Given the description of an element on the screen output the (x, y) to click on. 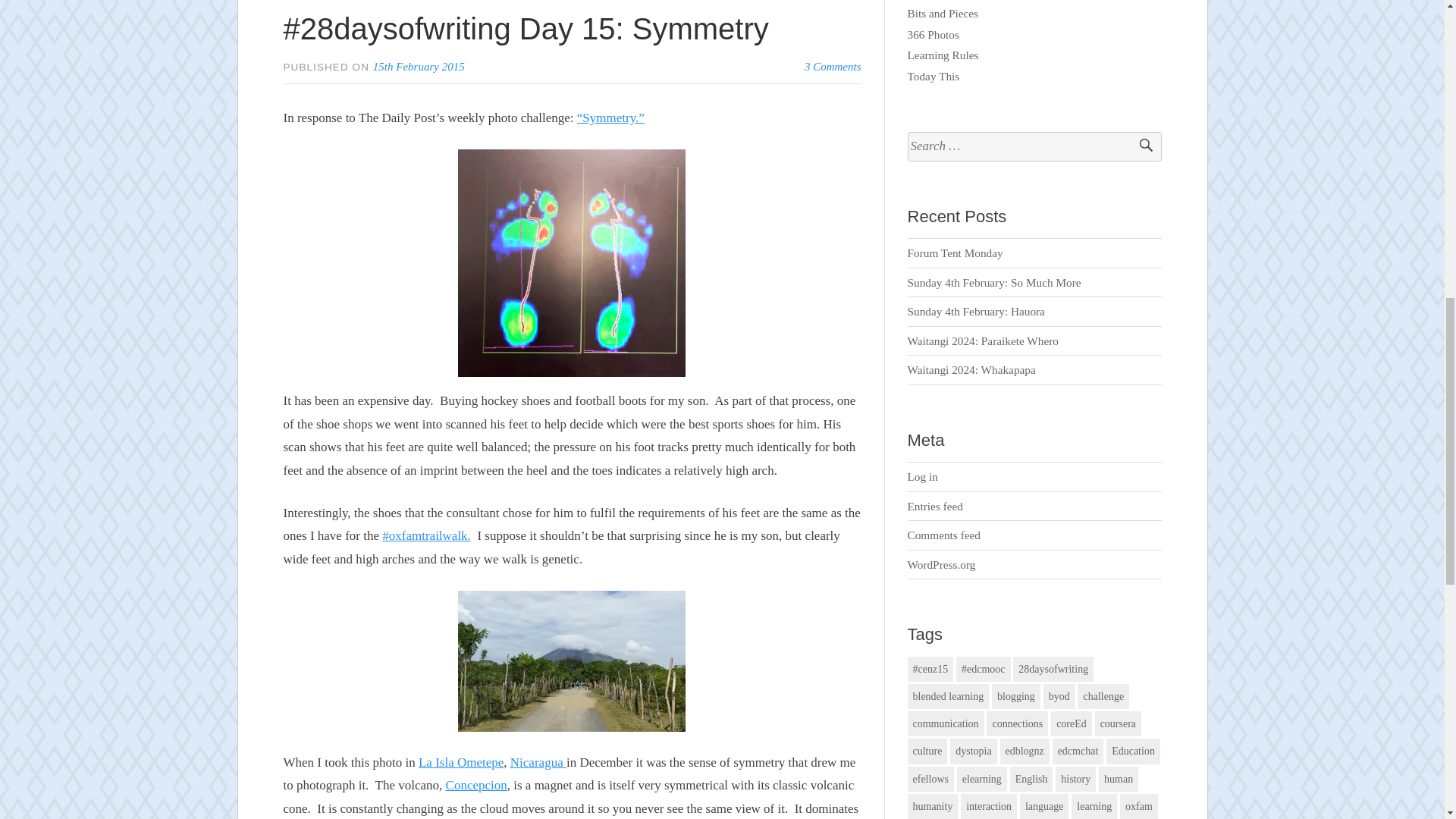
3 Comments (833, 66)
Entries feed (934, 505)
Comments feed (943, 534)
Sunday 4th February: Hauora (976, 310)
Waitangi 2024: Whakapapa (971, 369)
Sunday 4th February: So Much More (994, 282)
Concepcion (475, 785)
Search (1138, 146)
Nicaragua (538, 762)
Search (1138, 146)
Log in (922, 476)
Search (1138, 146)
Forum Tent Monday (955, 252)
Waitangi 2024: Paraikete Whero (982, 340)
Today This (933, 75)
